Given the description of an element on the screen output the (x, y) to click on. 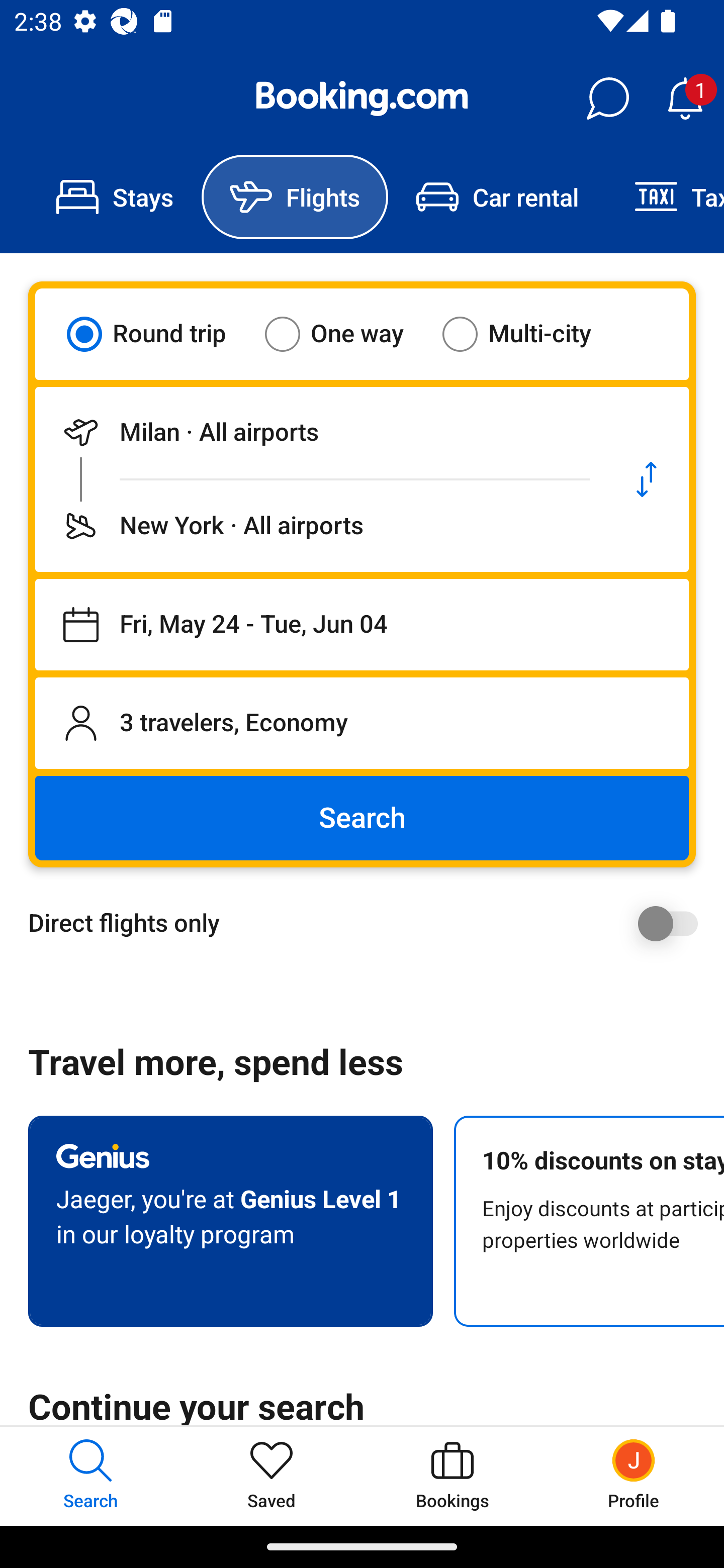
Messages (607, 98)
Notifications (685, 98)
Stays (114, 197)
Flights (294, 197)
Car rental (497, 197)
Taxi (665, 197)
One way (346, 333)
Multi-city (528, 333)
Departing from Milan · All airports (319, 432)
Swap departure location and destination (646, 479)
Flying to New York · All airports (319, 525)
Departing on Fri, May 24, returning on Tue, Jun 04 (361, 624)
3 travelers, Economy (361, 722)
Search (361, 818)
Direct flights only (369, 923)
Saved (271, 1475)
Bookings (452, 1475)
Profile (633, 1475)
